Given the description of an element on the screen output the (x, y) to click on. 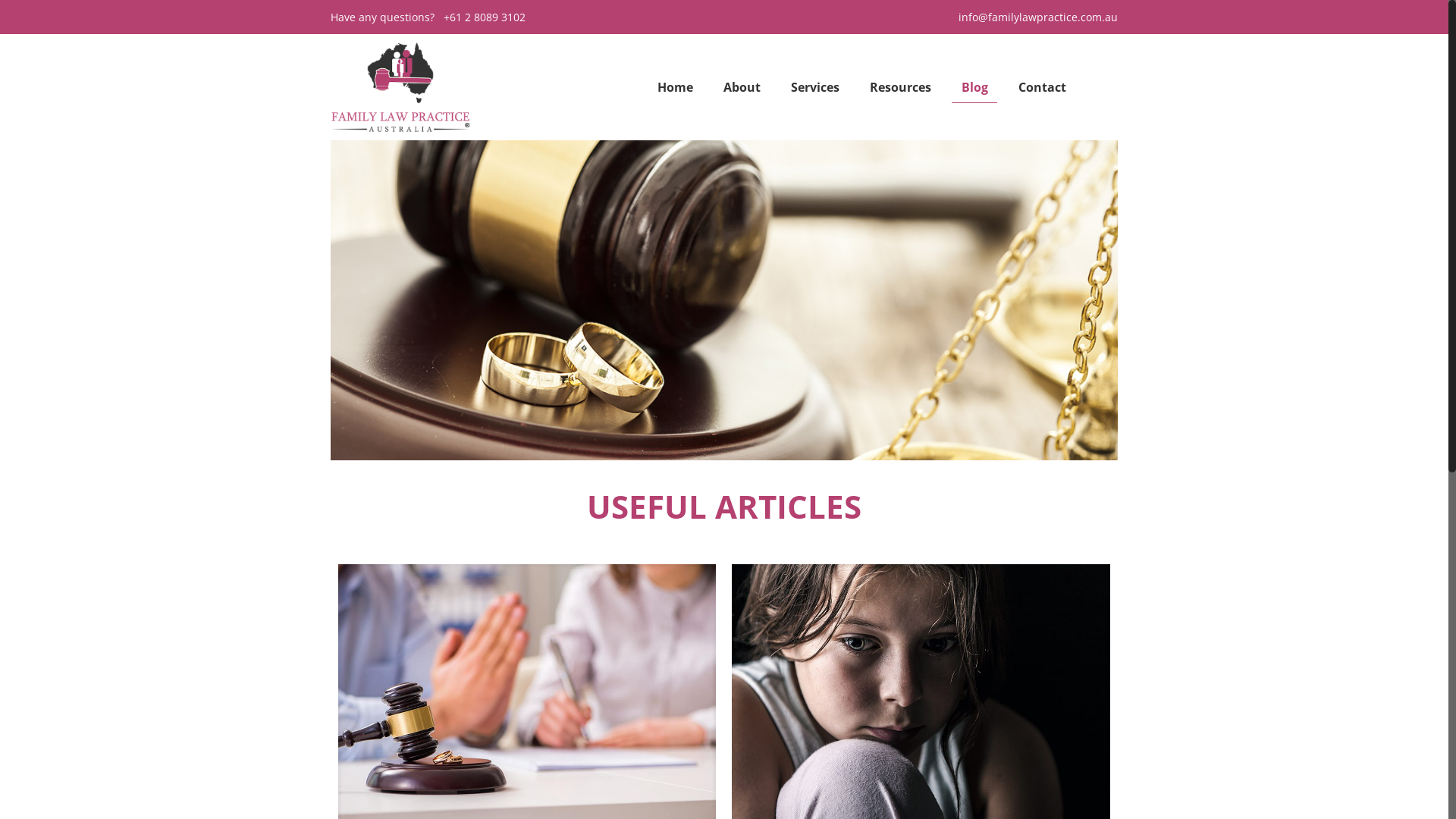
Family Law Practice Element type: hover (400, 87)
Blog Element type: text (974, 87)
info@familylawpractice.com.au Element type: text (1037, 16)
Resources Element type: text (900, 87)
Contact Element type: text (1042, 87)
Home Element type: text (675, 87)
+61 2 8089 3102 Element type: text (484, 16)
About Element type: text (741, 87)
Services Element type: text (814, 87)
